Given the description of an element on the screen output the (x, y) to click on. 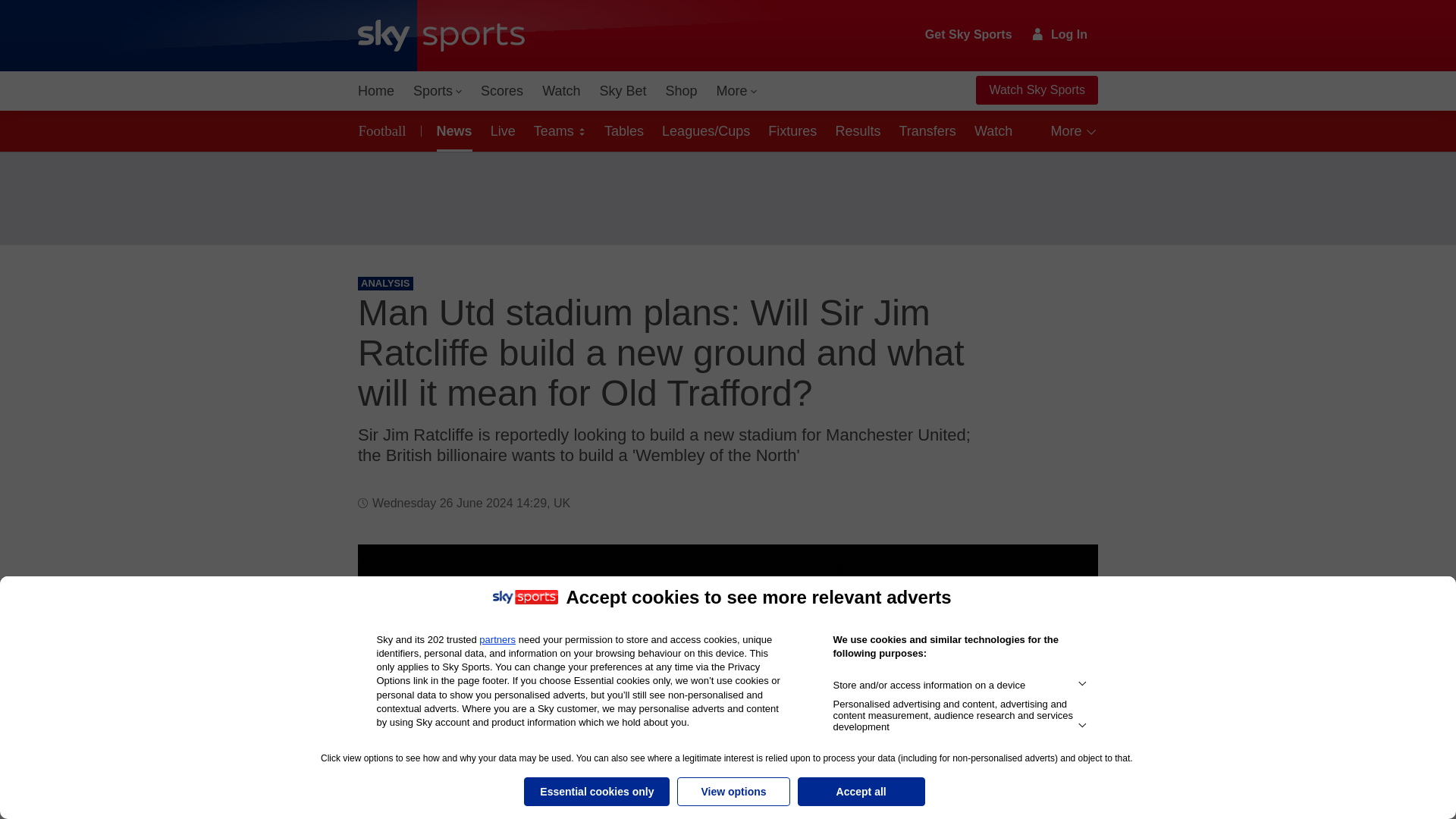
Log In (1060, 33)
Sky Bet (622, 91)
Football (385, 130)
More (736, 91)
Watch Sky Sports (1036, 90)
Get Sky Sports (968, 34)
Sports (437, 91)
Watch (561, 91)
Scores (502, 91)
Shop (681, 91)
News (451, 130)
Home (375, 91)
Share (1067, 574)
